Given the description of an element on the screen output the (x, y) to click on. 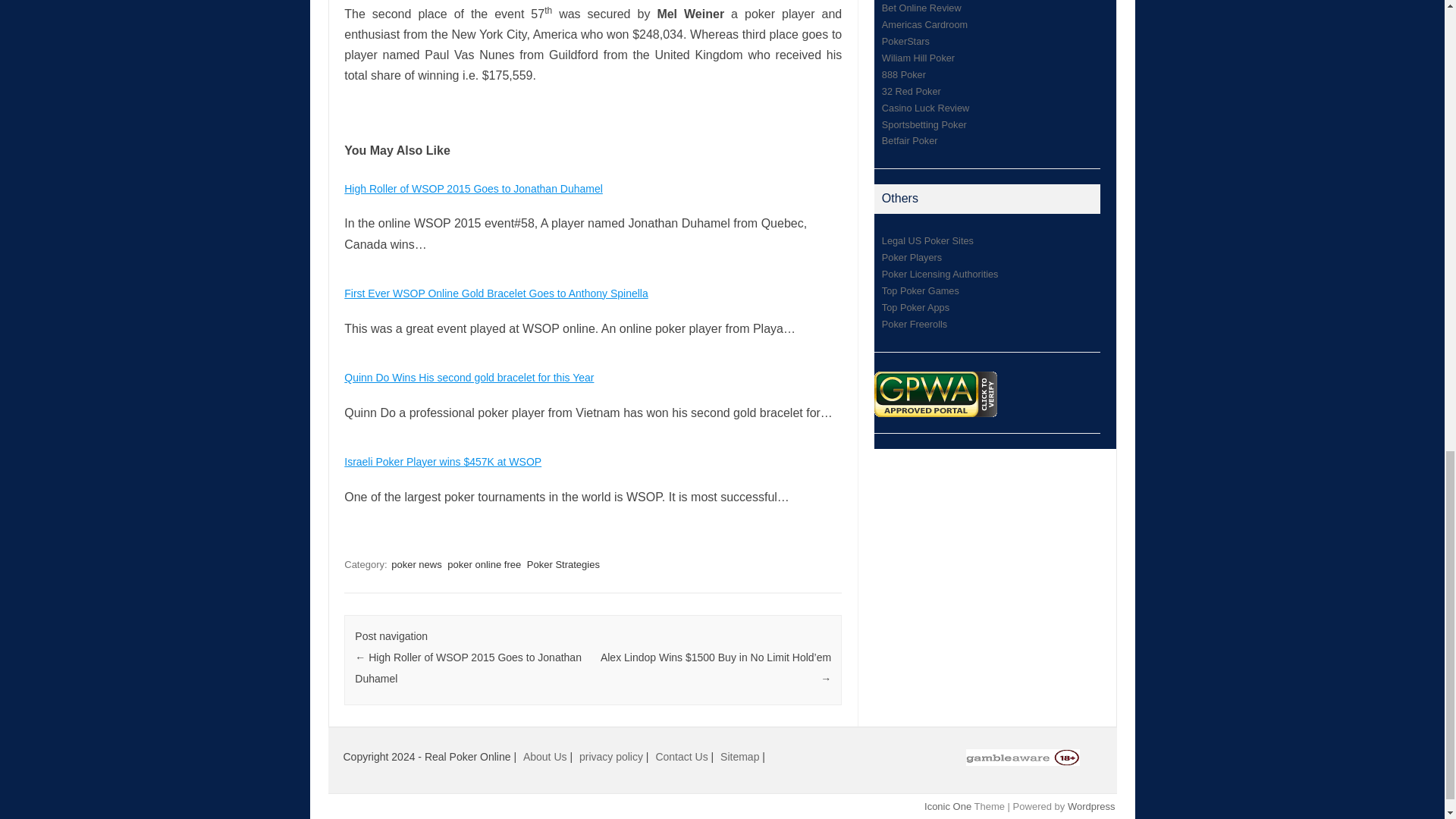
poker news (416, 564)
poker online free (483, 564)
Quinn Do Wins His second gold bracelet for this Year (468, 377)
Poker Strategies (563, 564)
High Roller of WSOP 2015 Goes to Jonathan Duhamel (472, 188)
